Given the description of an element on the screen output the (x, y) to click on. 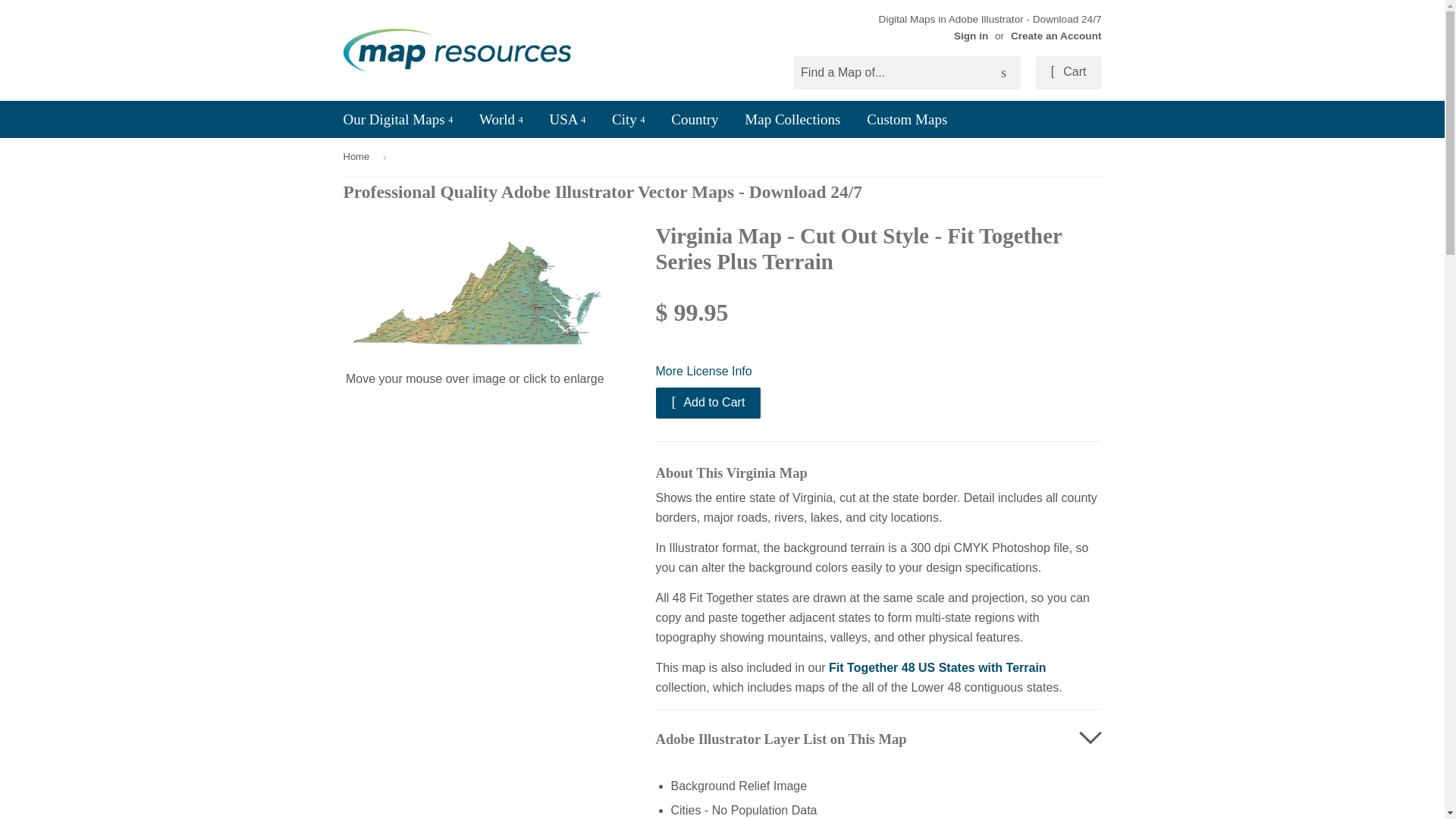
Fit Together 48 US States with Terrain (937, 667)
World (500, 118)
Cart (1068, 72)
Create an Account (1056, 35)
Map Collections (792, 118)
Custom Maps (907, 118)
USA (567, 118)
City (627, 118)
Add to Cart (707, 402)
Our Digital Maps (397, 118)
Search (1003, 73)
More License Info (877, 371)
Sign in (970, 35)
